Given the description of an element on the screen output the (x, y) to click on. 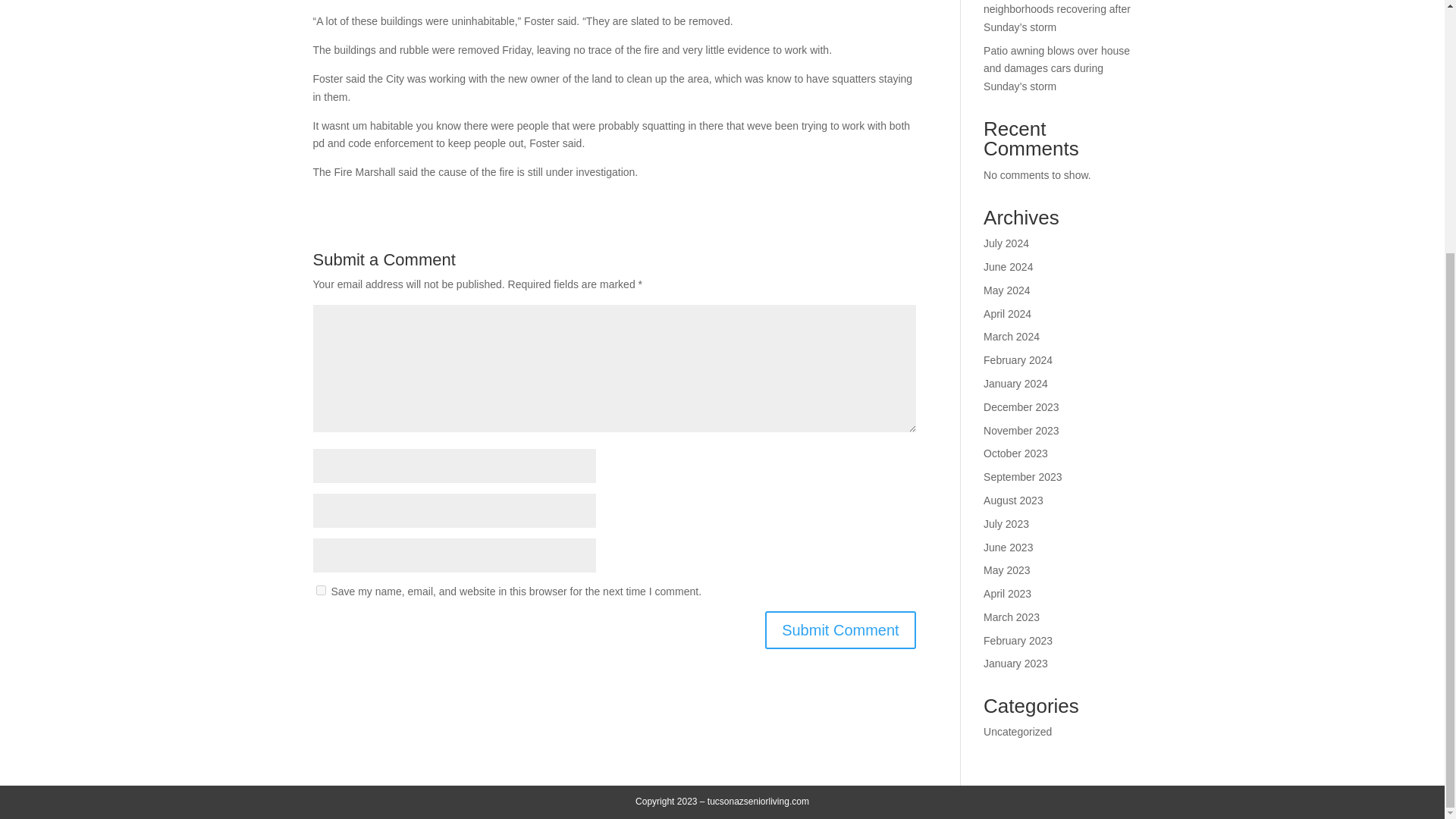
December 2023 (1021, 407)
March 2024 (1011, 336)
Submit Comment (840, 629)
October 2023 (1016, 453)
June 2023 (1008, 547)
March 2023 (1011, 616)
February 2023 (1018, 640)
yes (319, 590)
July 2024 (1006, 243)
February 2024 (1018, 359)
September 2023 (1023, 476)
January 2023 (1016, 663)
November 2023 (1021, 430)
Uncategorized (1017, 731)
April 2023 (1007, 593)
